Given the description of an element on the screen output the (x, y) to click on. 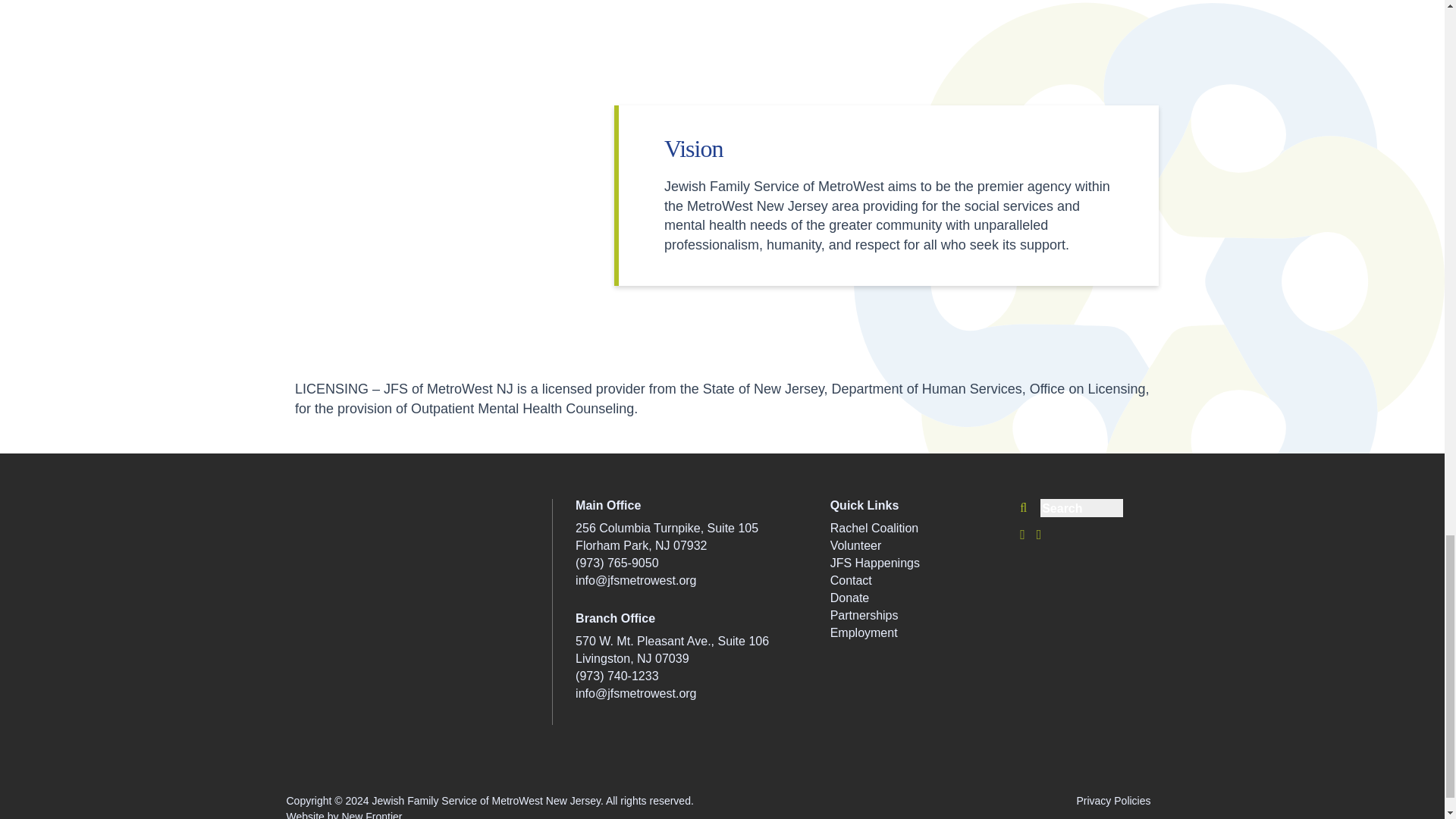
Search (1117, 504)
Search (1117, 504)
